Given the description of an element on the screen output the (x, y) to click on. 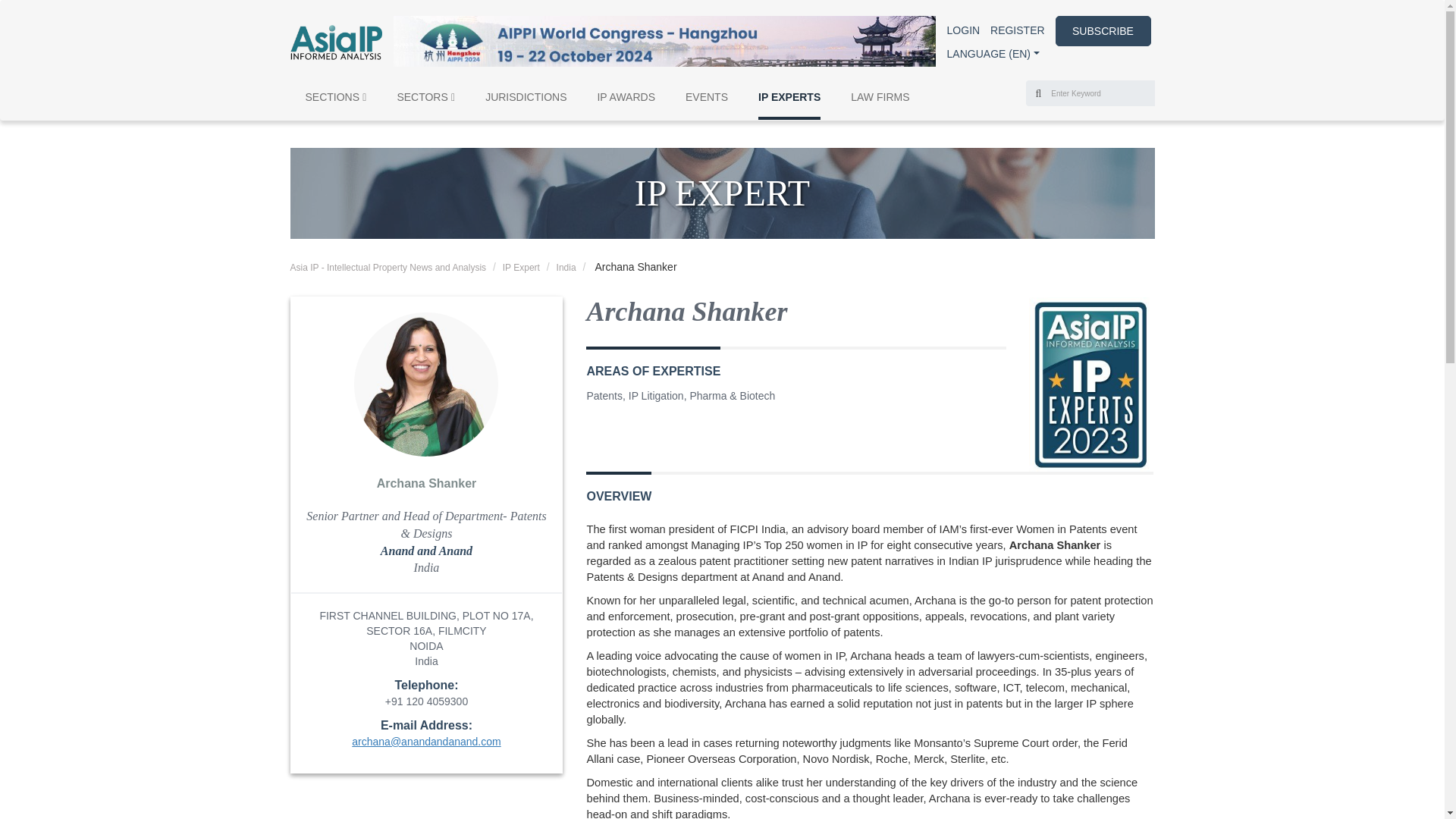
JURISDICTIONS (525, 104)
IP EXPERTS (789, 104)
IP AWARDS (625, 104)
LAW FIRMS (879, 104)
EVENTS (706, 104)
SECTIONS (335, 104)
LOGIN (963, 30)
REGISTER (1017, 30)
SUBSCRIBE (1103, 30)
SECTORS (425, 104)
